Given the description of an element on the screen output the (x, y) to click on. 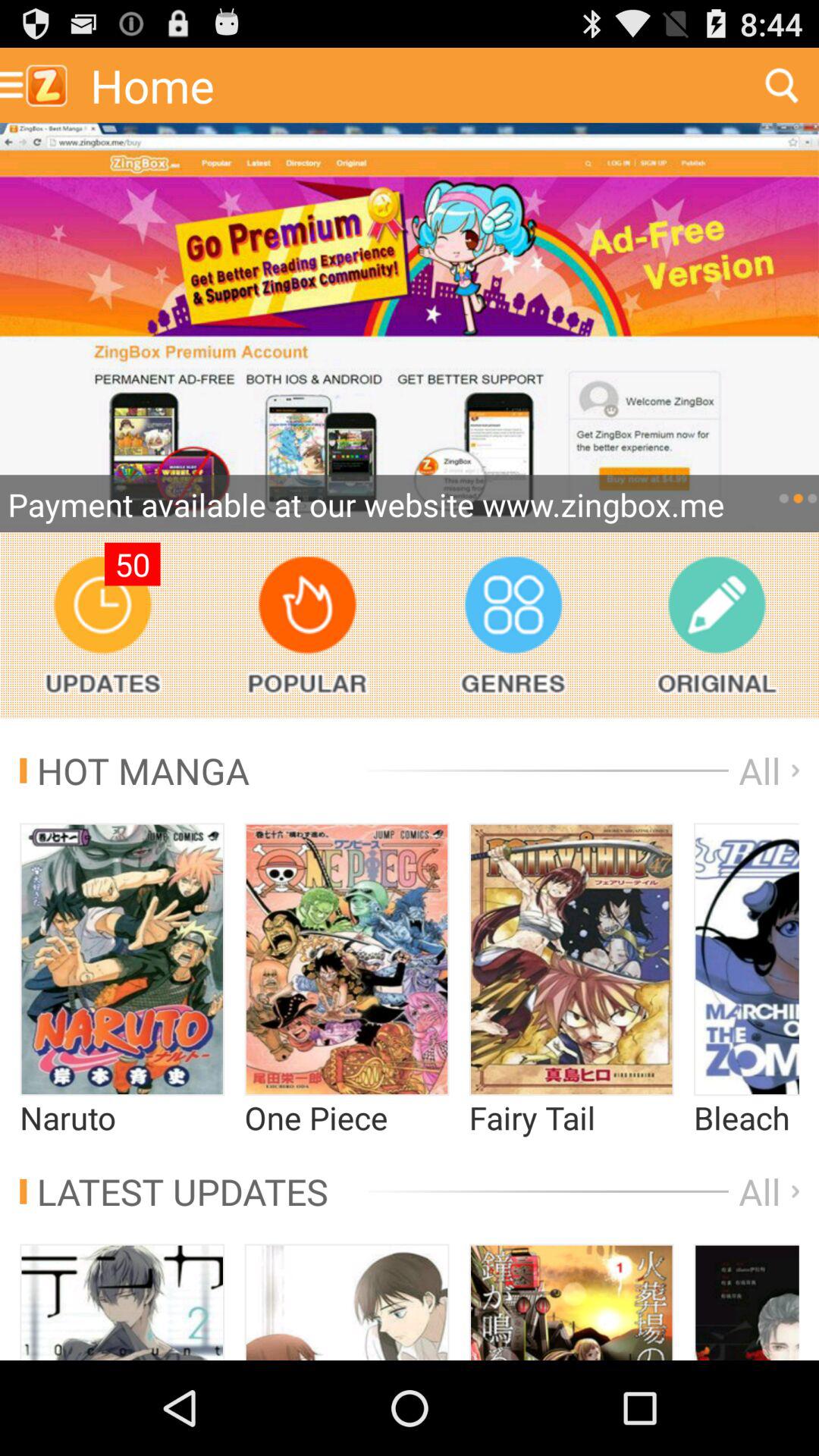
choose the icon next to the all app (173, 1191)
